Given the description of an element on the screen output the (x, y) to click on. 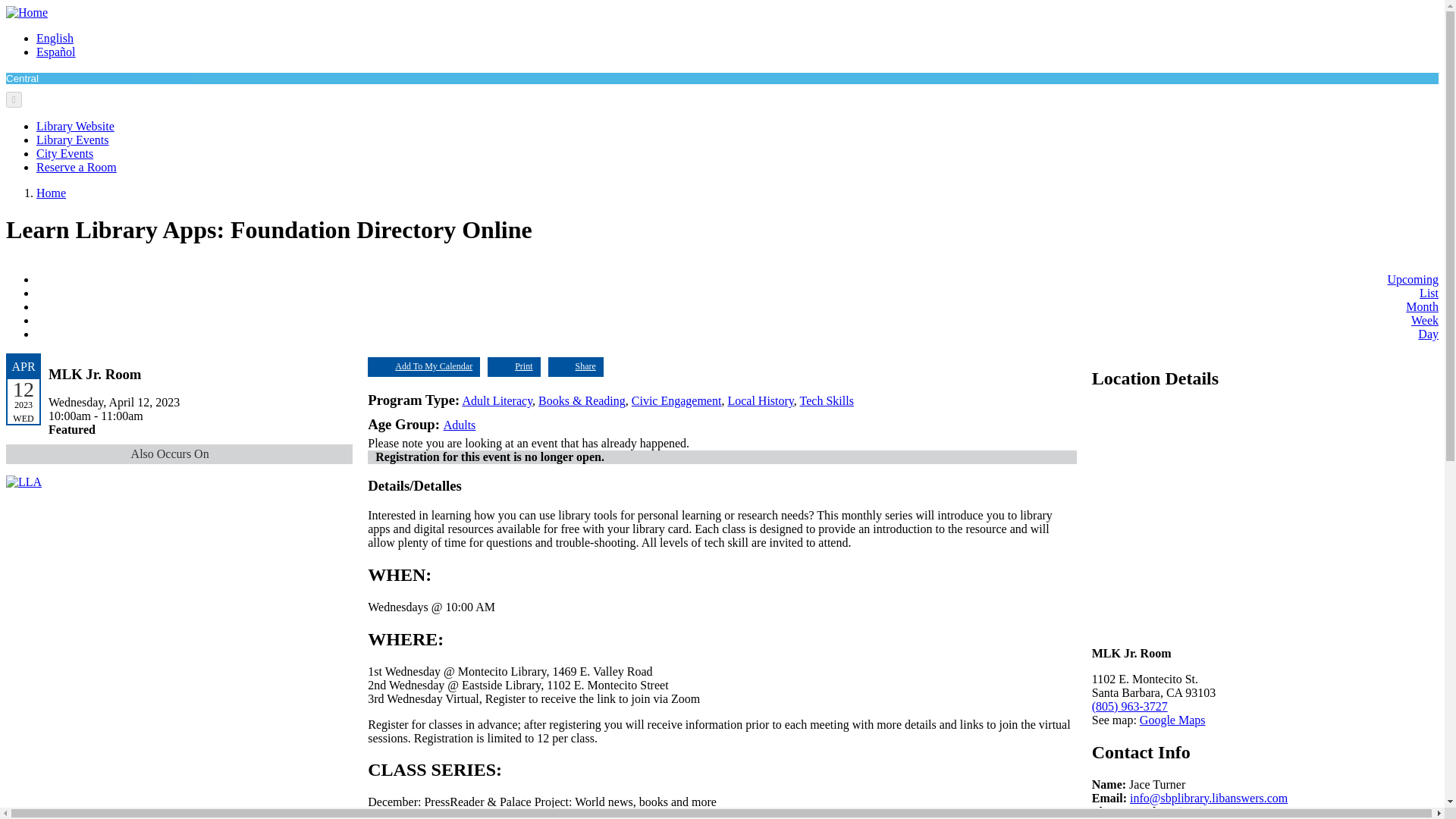
Google Maps (1172, 719)
Local History (759, 400)
Home (26, 11)
Upcoming (1412, 278)
Tech Skills (826, 400)
Toggle Navigation (13, 99)
Add To My Calendar (424, 366)
Print (513, 366)
Share this event (576, 366)
Library Website (75, 125)
